Given the description of an element on the screen output the (x, y) to click on. 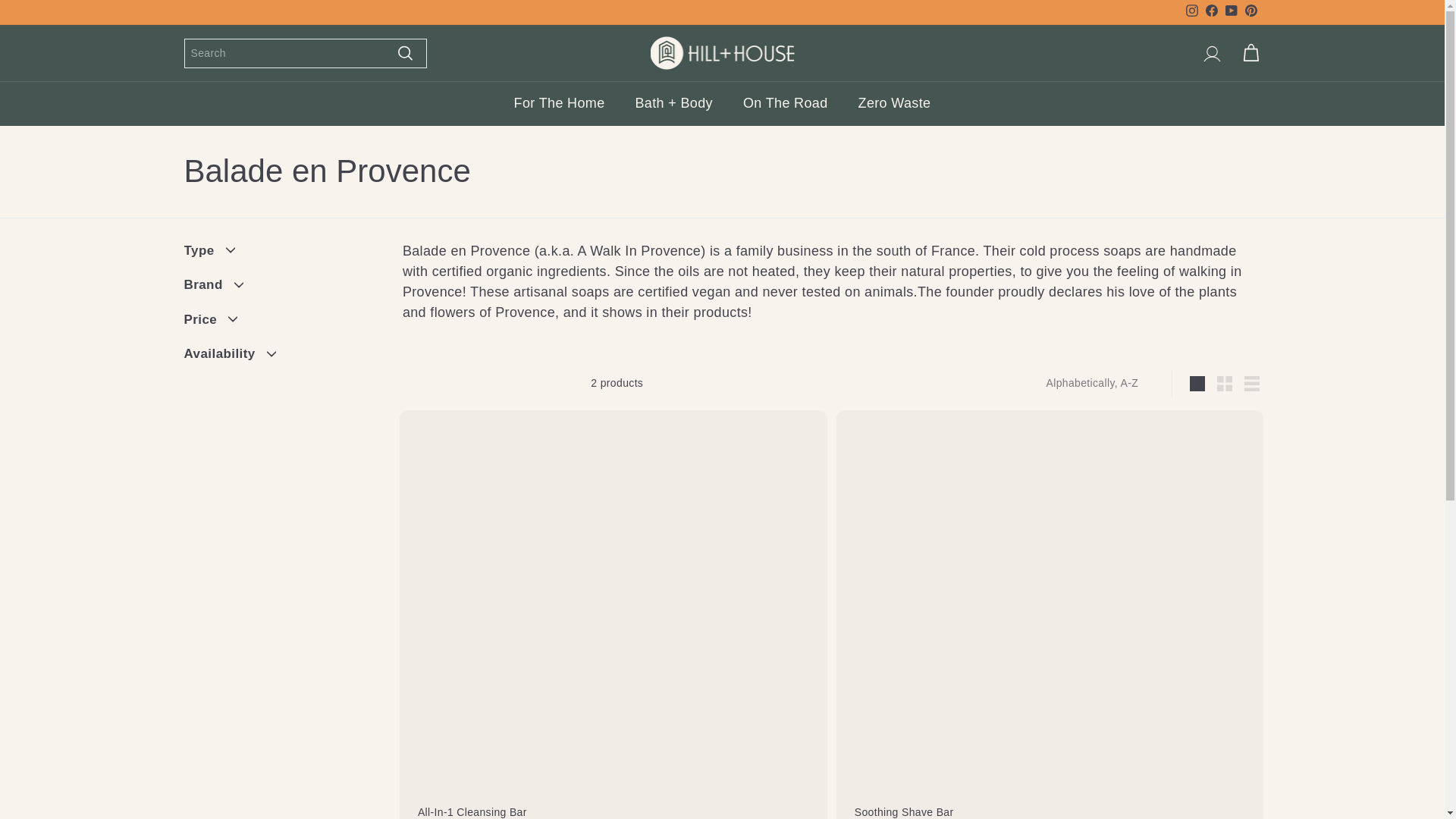
instagram (1192, 10)
On The Road (785, 103)
Facebook (1211, 12)
Zero Waste (894, 103)
List (1190, 12)
Pinterest (1252, 383)
Type (1250, 12)
Small (280, 254)
For The Home (1225, 383)
Large (559, 103)
YouTube (1197, 383)
